Given the description of an element on the screen output the (x, y) to click on. 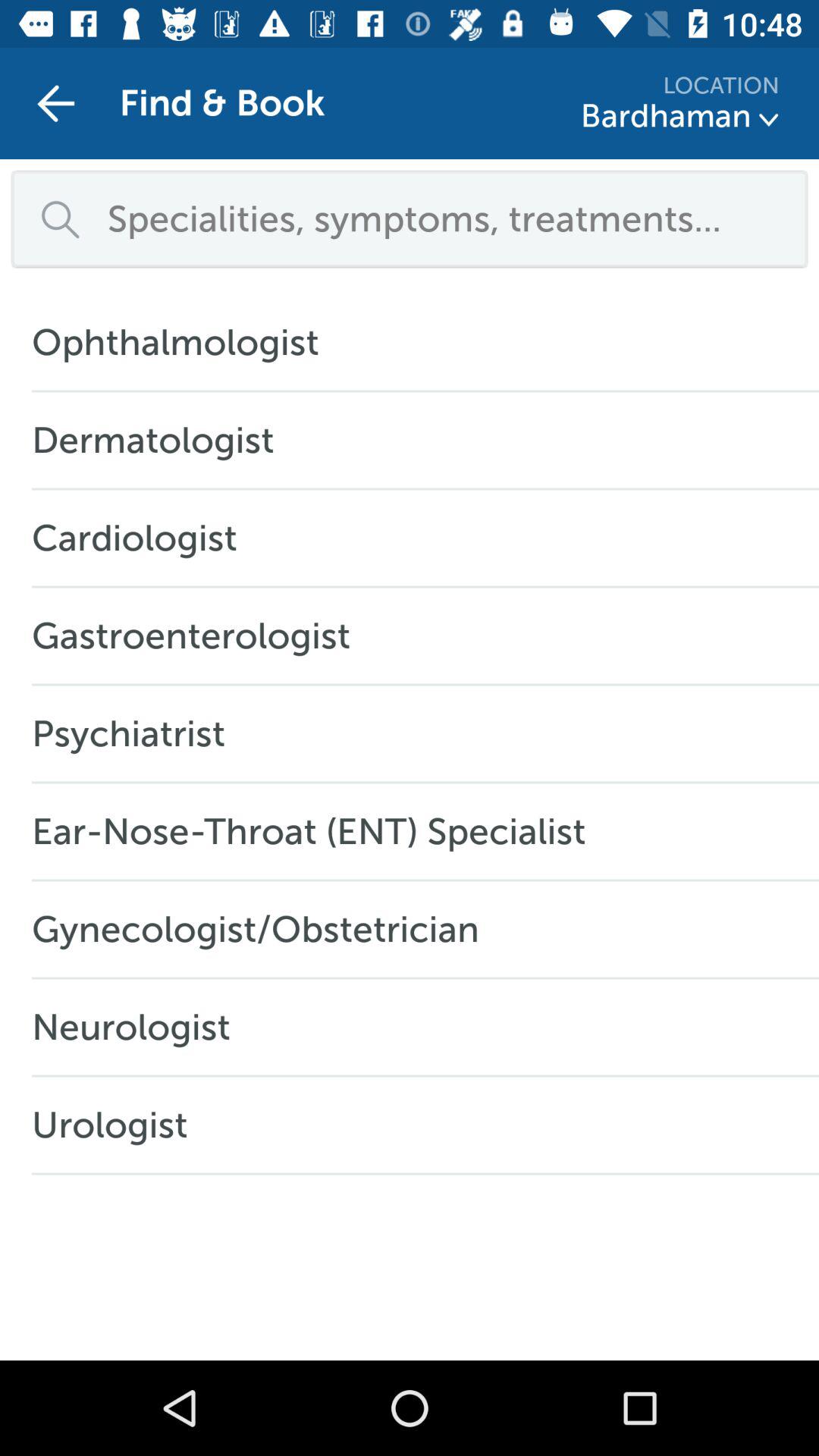
info (769, 119)
